Given the description of an element on the screen output the (x, y) to click on. 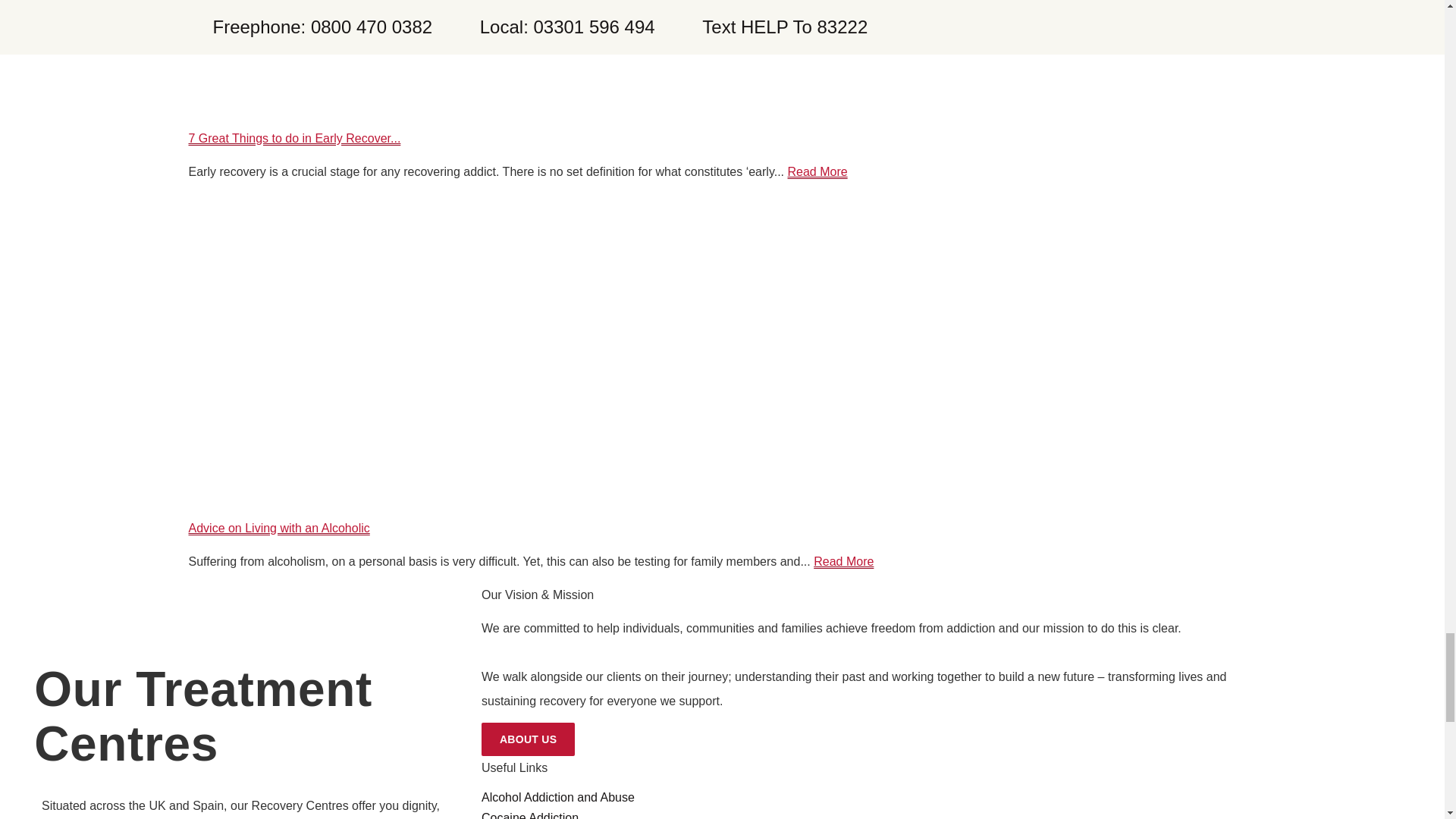
About Us (528, 738)
